Given the description of an element on the screen output the (x, y) to click on. 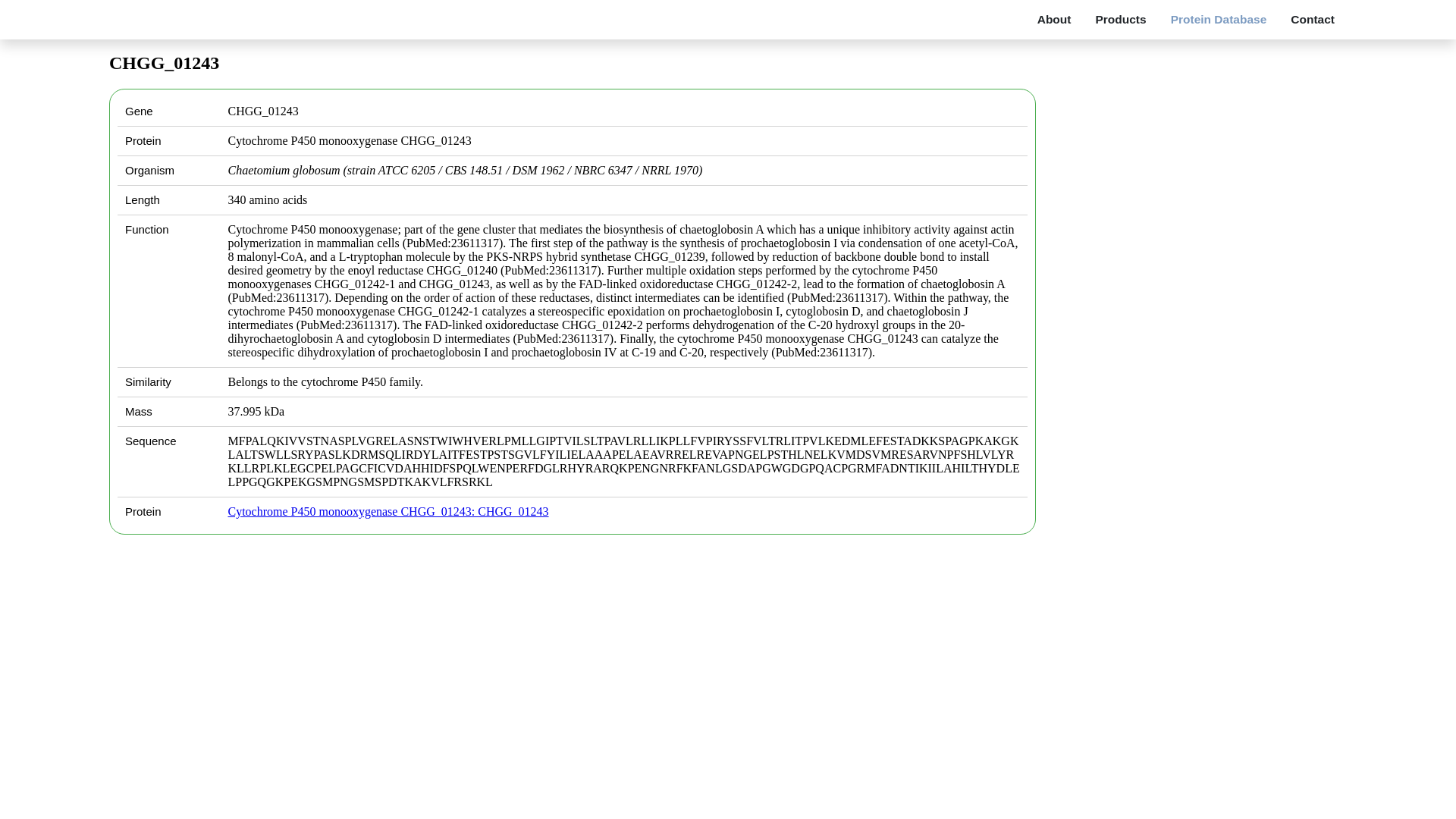
Contact (1312, 19)
Length (623, 199)
Mass (623, 411)
Products (1120, 19)
Product (623, 511)
Protein Database (1218, 19)
Organism (623, 170)
Gene (623, 111)
Sequence (623, 461)
Protein (623, 140)
About (1054, 19)
Function (623, 290)
Similarity (623, 381)
